Given the description of an element on the screen output the (x, y) to click on. 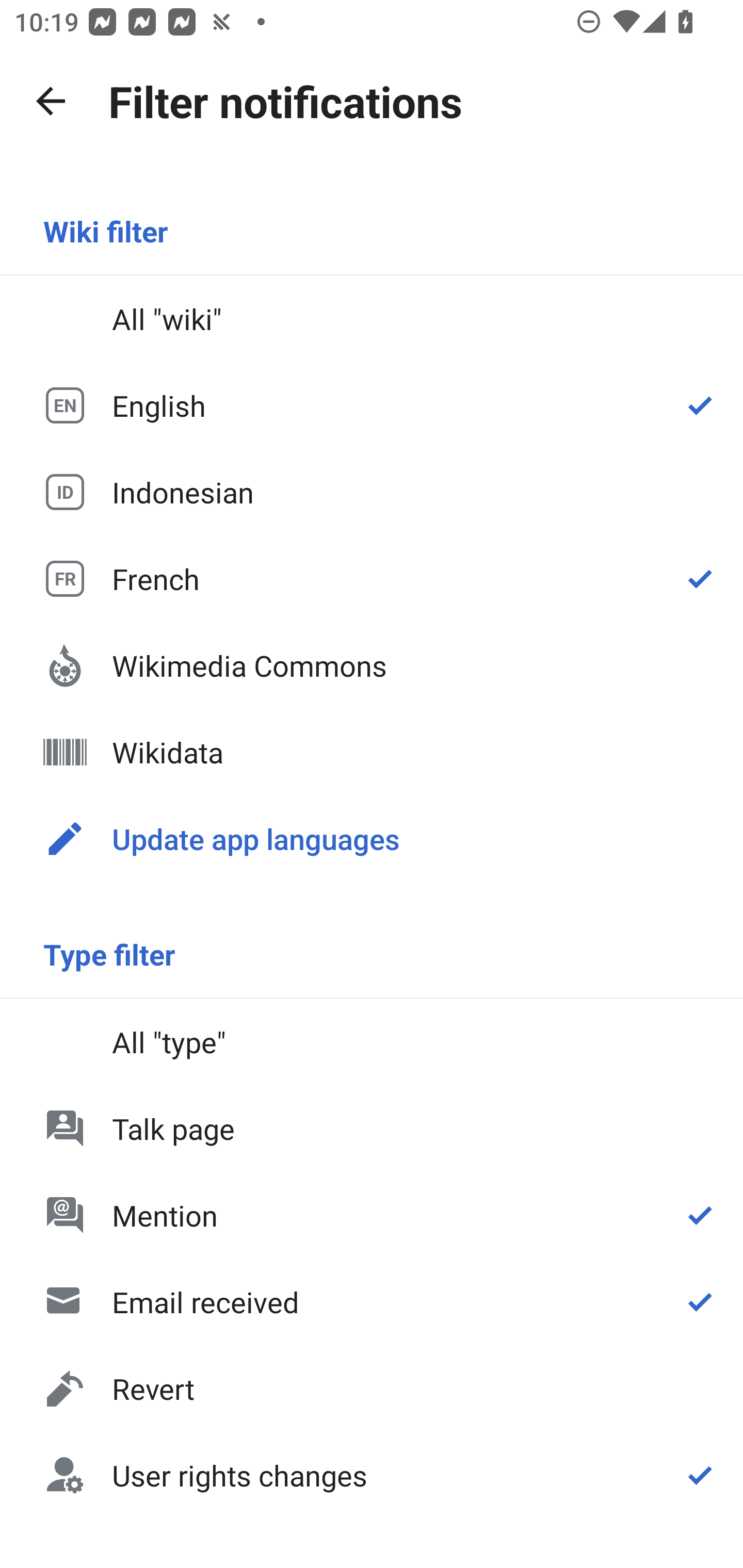
Navigate up (50, 101)
All "wiki" (371, 318)
EN English (371, 405)
ID Indonesian (371, 491)
FR French (371, 578)
Wikimedia Commons (371, 665)
Wikidata (371, 751)
Update app languages (371, 837)
All "type" (371, 1041)
Talk page (371, 1128)
Mention (371, 1215)
Email received (371, 1302)
Revert (371, 1388)
User rights changes (371, 1474)
